Given the description of an element on the screen output the (x, y) to click on. 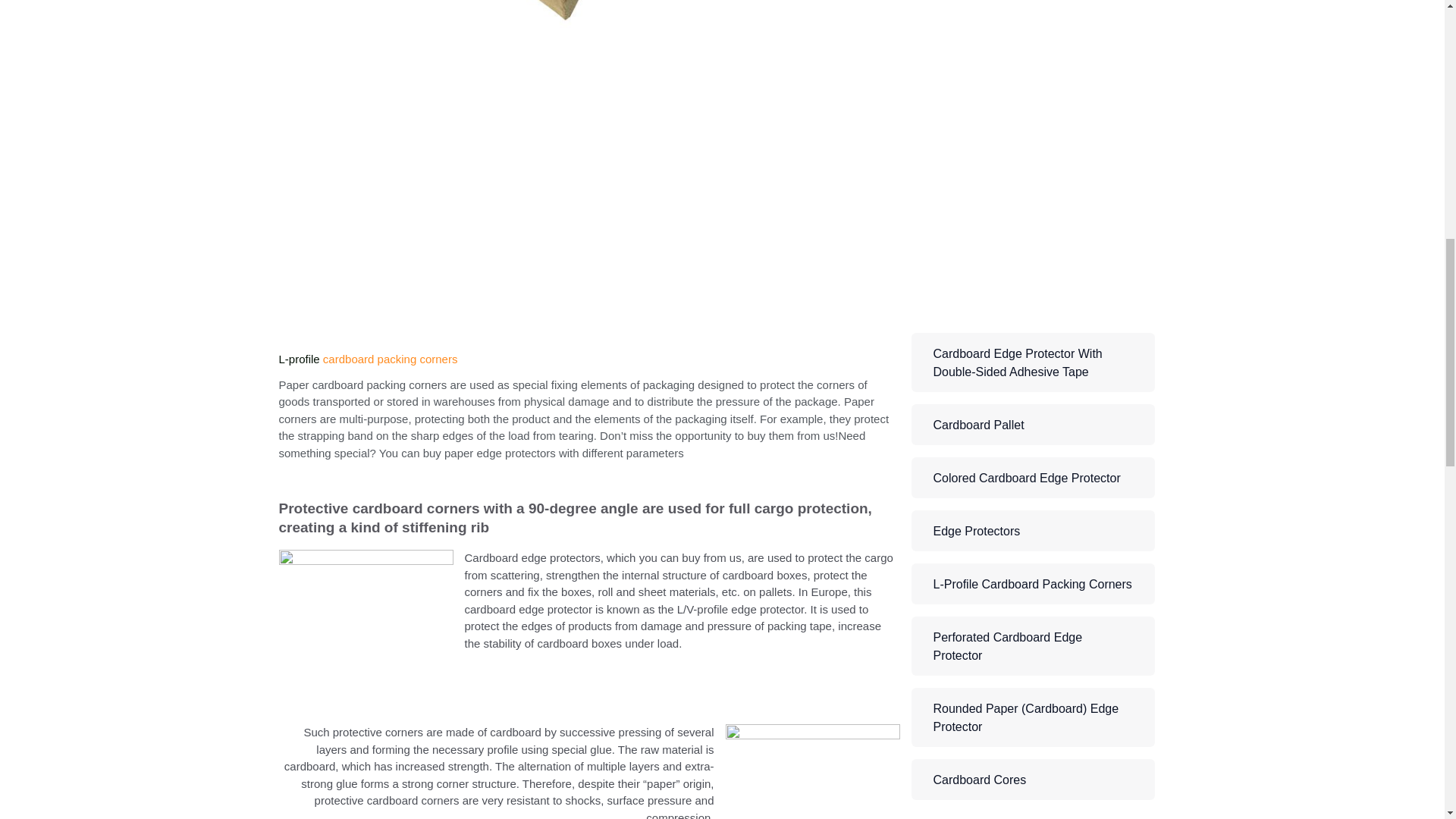
Perforated Cardboard Edge Protector (1032, 645)
Cardboard Edge Protector With Double-Sided Adhesive Tape (1032, 362)
L-Profile Cardboard Packing Corners (1032, 583)
Cardboard Pallet (1032, 424)
Colored Cardboard Edge Protector (1032, 477)
Edge Protectors (1032, 530)
